Given the description of an element on the screen output the (x, y) to click on. 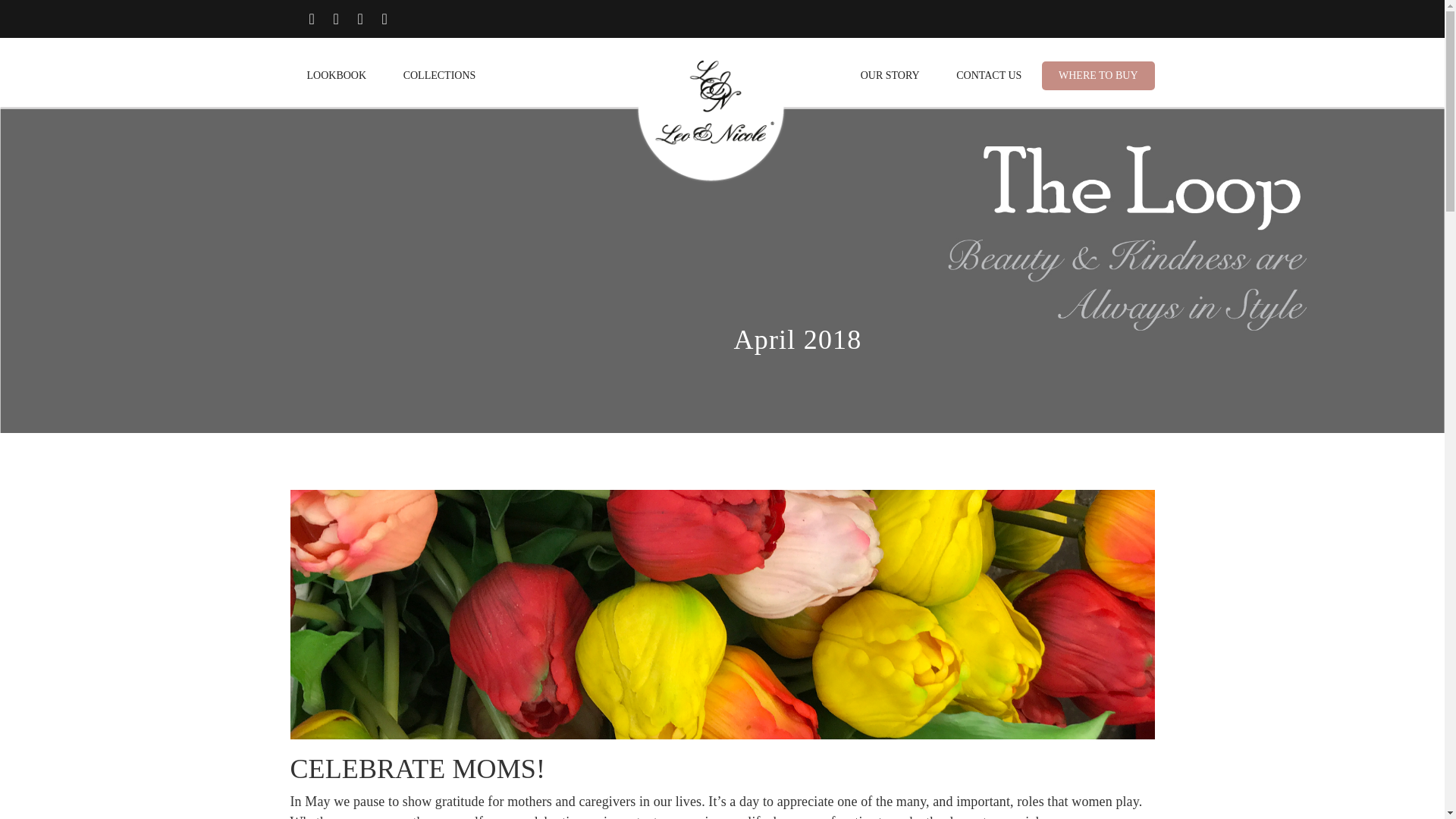
CONTACT US (988, 75)
OUR STORY (890, 75)
COLLECTIONS (440, 75)
LOOKBOOK (335, 75)
WHERE TO BUY (1098, 75)
